Given the description of an element on the screen output the (x, y) to click on. 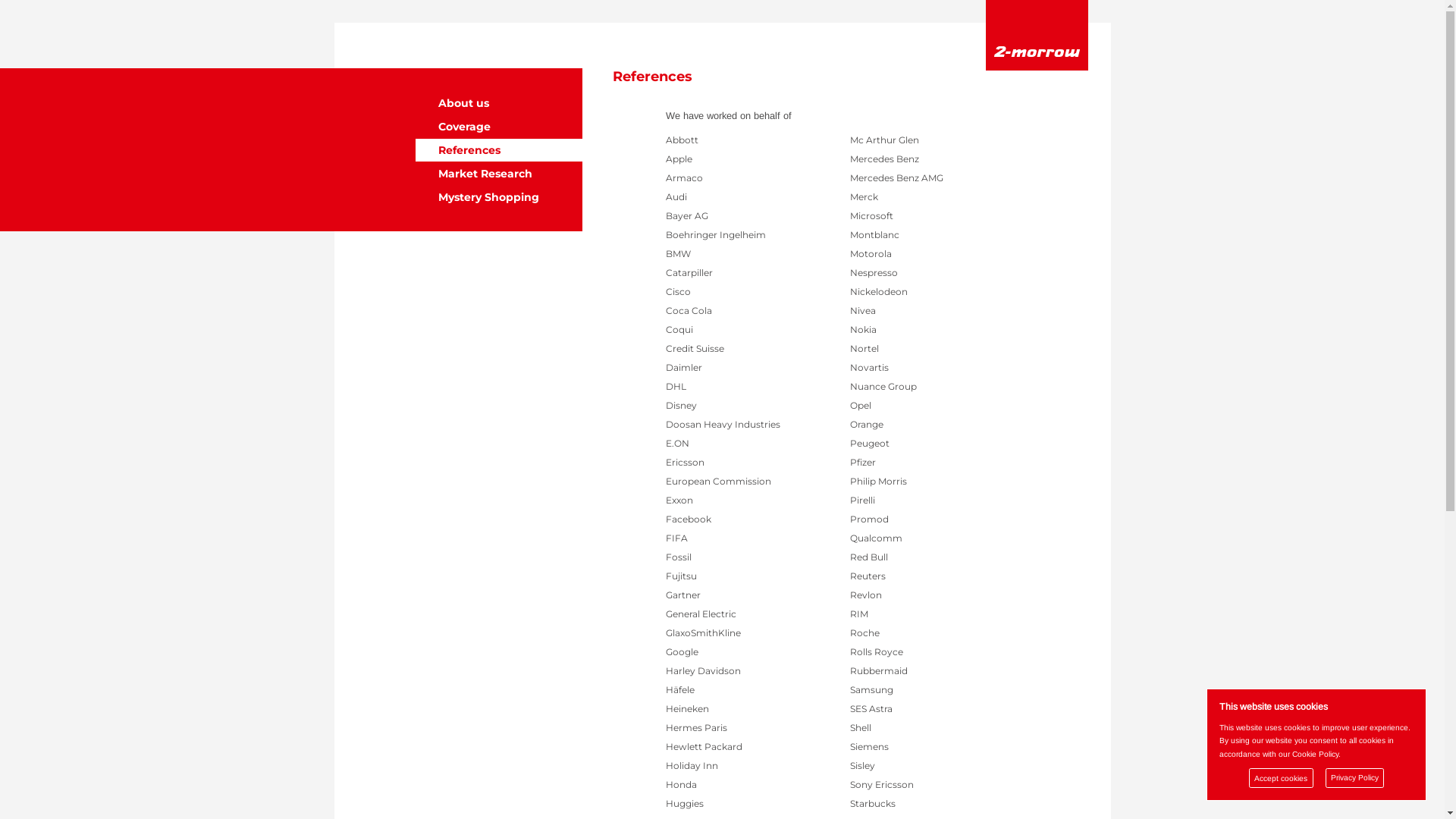
Privacy Policy Element type: text (1354, 777)
Mystery Shopping Element type: text (498, 196)
Market Research Element type: text (498, 173)
References Element type: text (498, 149)
Accept cookies Element type: text (1280, 777)
Coverage Element type: text (498, 126)
About us Element type: text (498, 102)
